Given the description of an element on the screen output the (x, y) to click on. 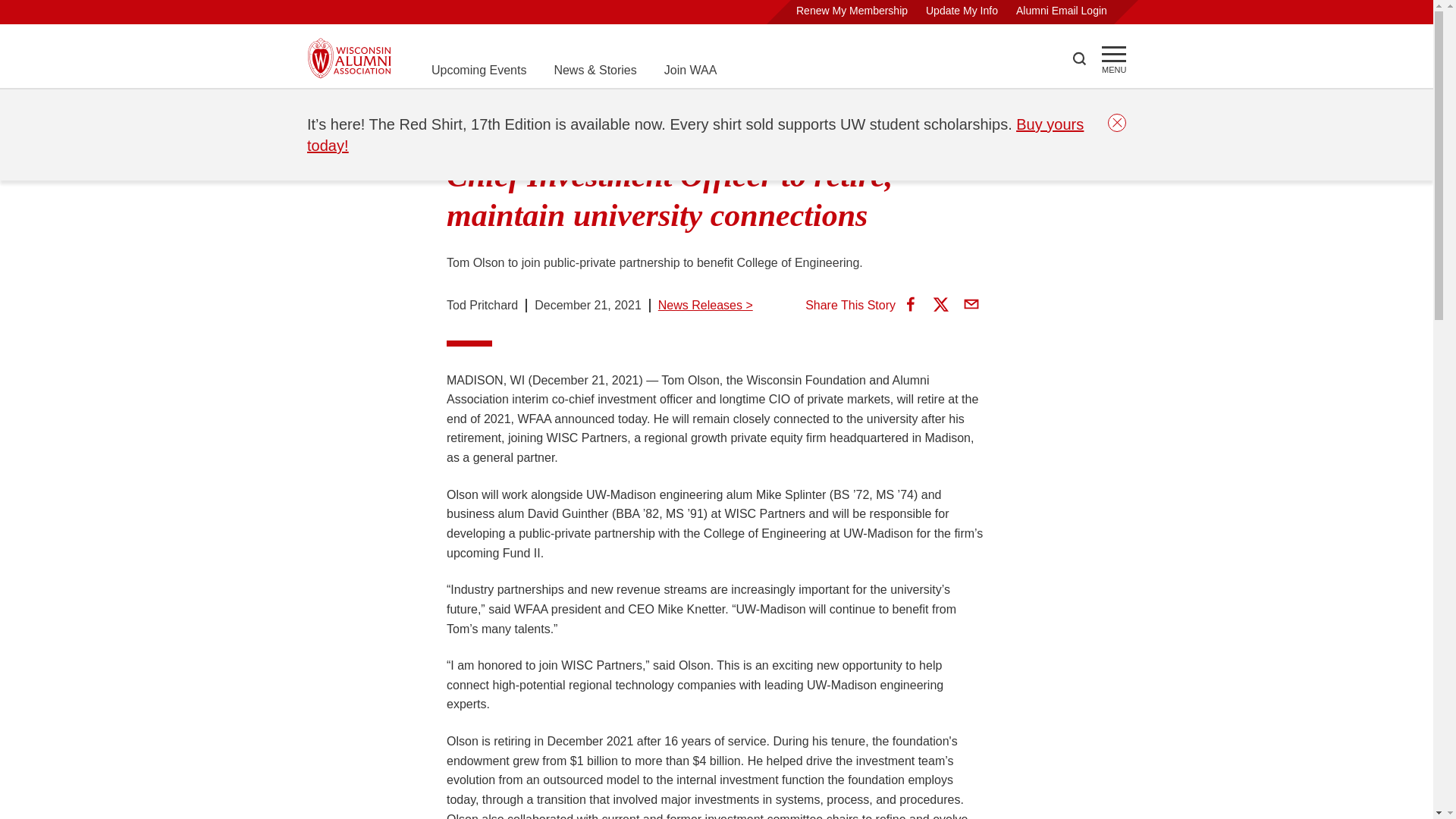
News Releases (470, 107)
Home (322, 107)
Update My Info (961, 10)
Upcoming Events (477, 70)
Alumni Email Login (1061, 10)
Renew My Membership (851, 10)
Join WAA (690, 70)
